Given the description of an element on the screen output the (x, y) to click on. 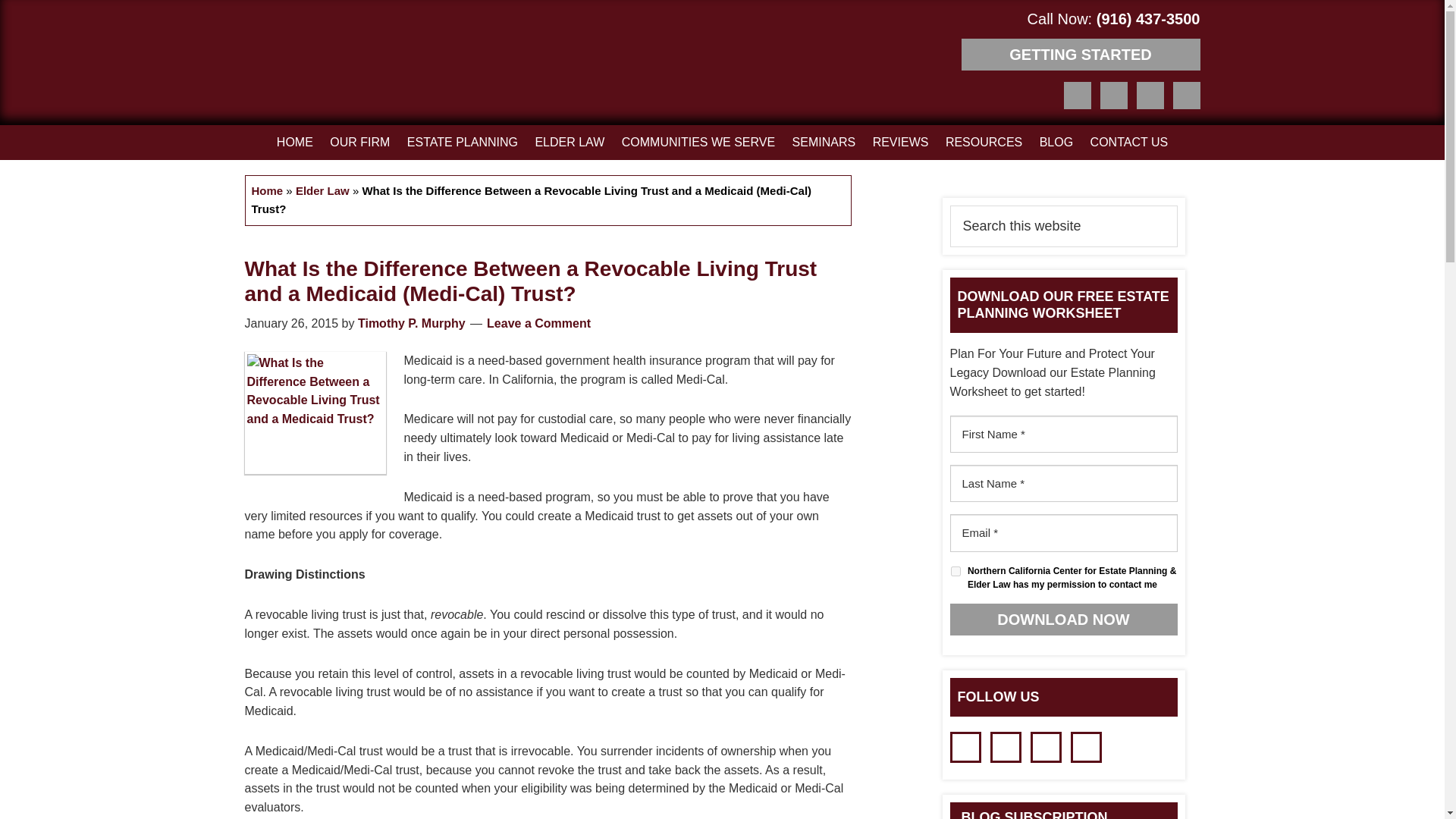
Northern California Center for Estate Planning and Elder Law (295, 65)
COMMUNITIES WE SERVE (697, 142)
GETTING STARTED (1079, 54)
Download Now (1062, 619)
REVIEWS (901, 142)
ESTATE PLANNING (462, 142)
OUR FIRM (359, 142)
HOME (294, 142)
for Estate Planning (295, 65)
